Given the description of an element on the screen output the (x, y) to click on. 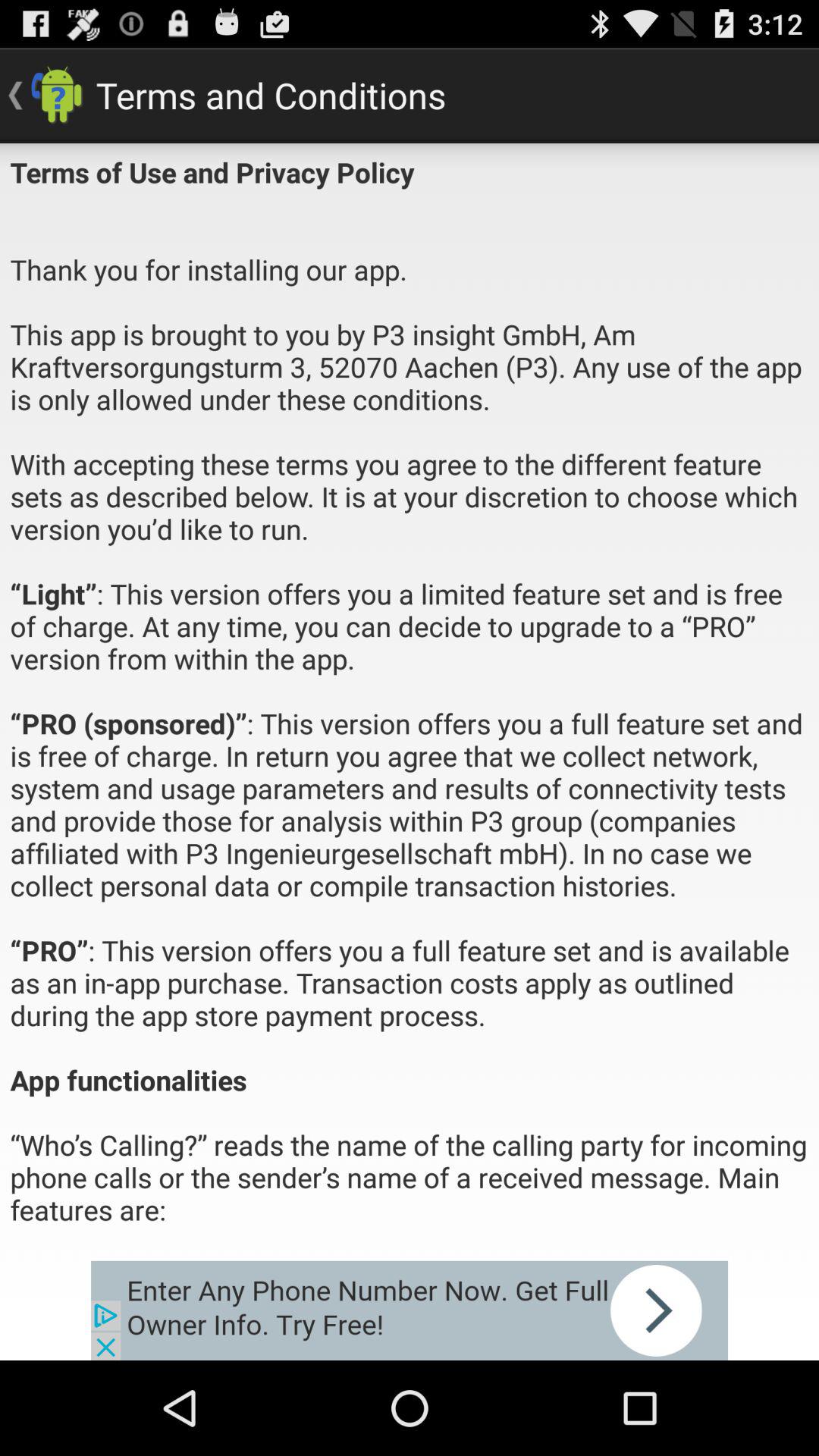
advertisement link (409, 1310)
